Given the description of an element on the screen output the (x, y) to click on. 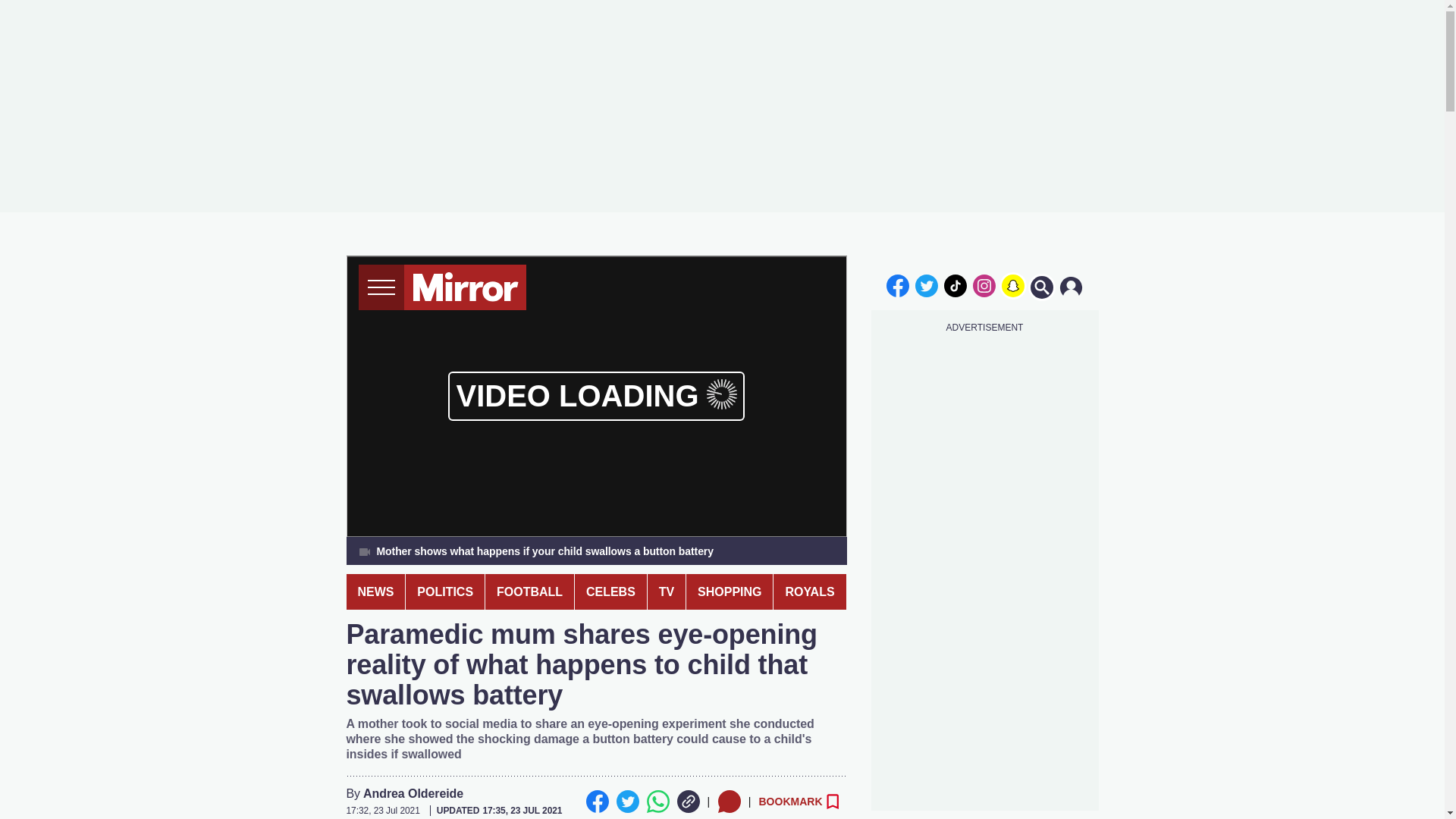
NEWS (375, 591)
Facebook (596, 801)
tiktok (955, 285)
facebook (897, 285)
Twitter (627, 801)
instagram (984, 285)
snapchat (1012, 285)
FOOTBALL (528, 591)
POLITICS (445, 591)
twitter (926, 285)
